Given the description of an element on the screen output the (x, y) to click on. 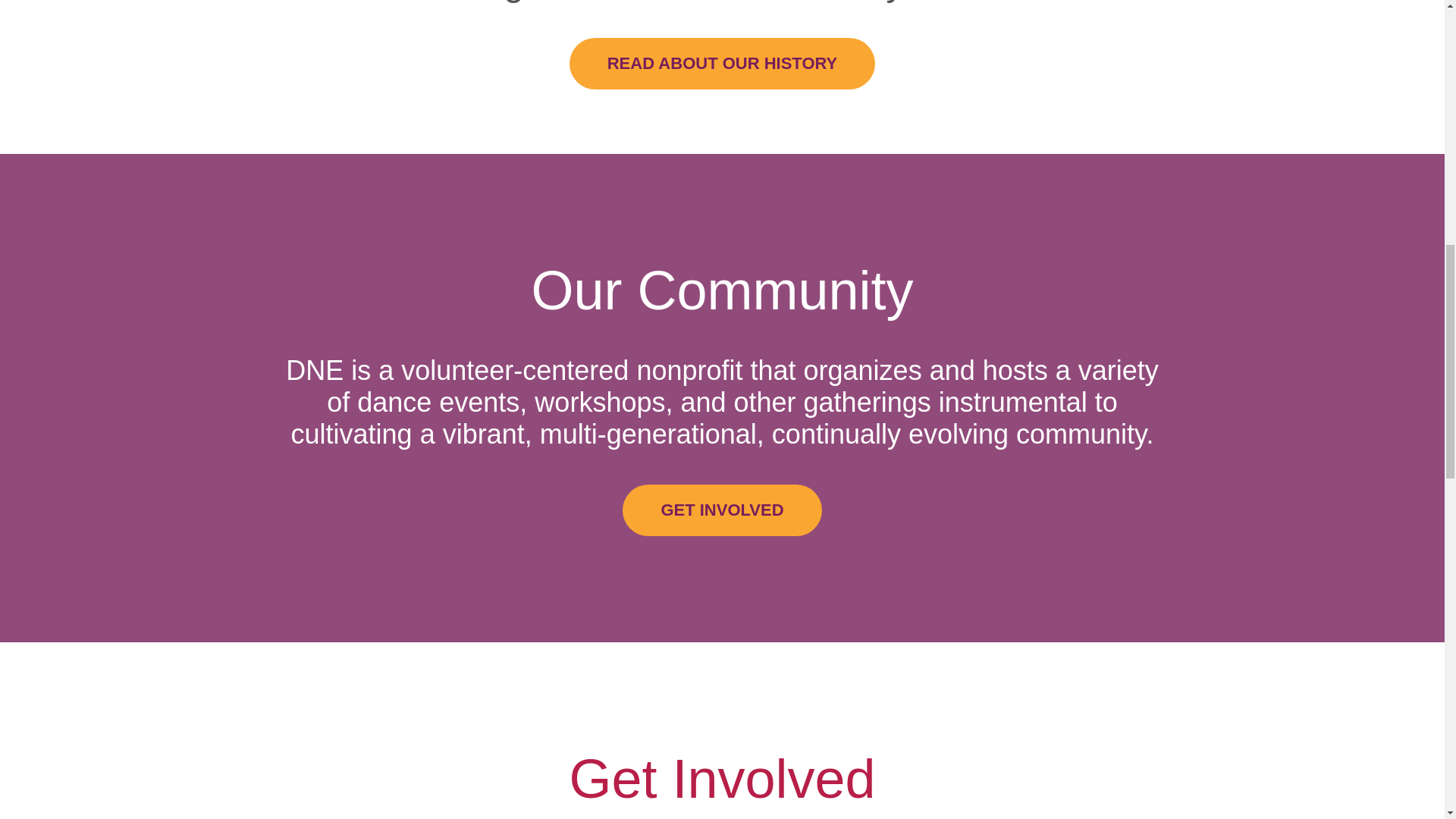
GET INVOLVED (722, 509)
READ ABOUT OUR HISTORY (722, 63)
